Given the description of an element on the screen output the (x, y) to click on. 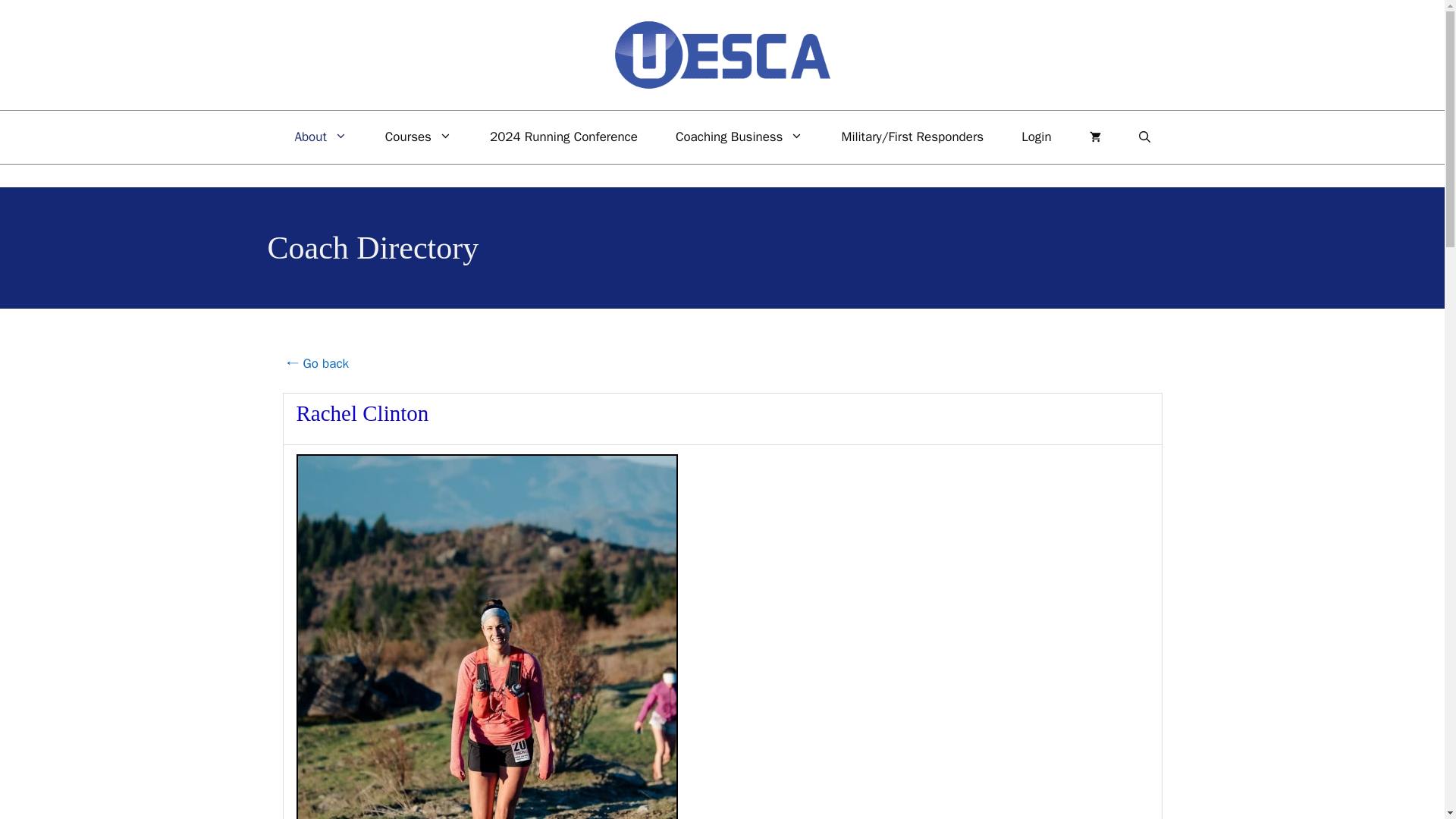
About (320, 136)
Courses (418, 136)
View your shopping cart (1095, 136)
Coaching Business (739, 136)
2024 Running Conference (563, 136)
Login (1035, 136)
